Given the description of an element on the screen output the (x, y) to click on. 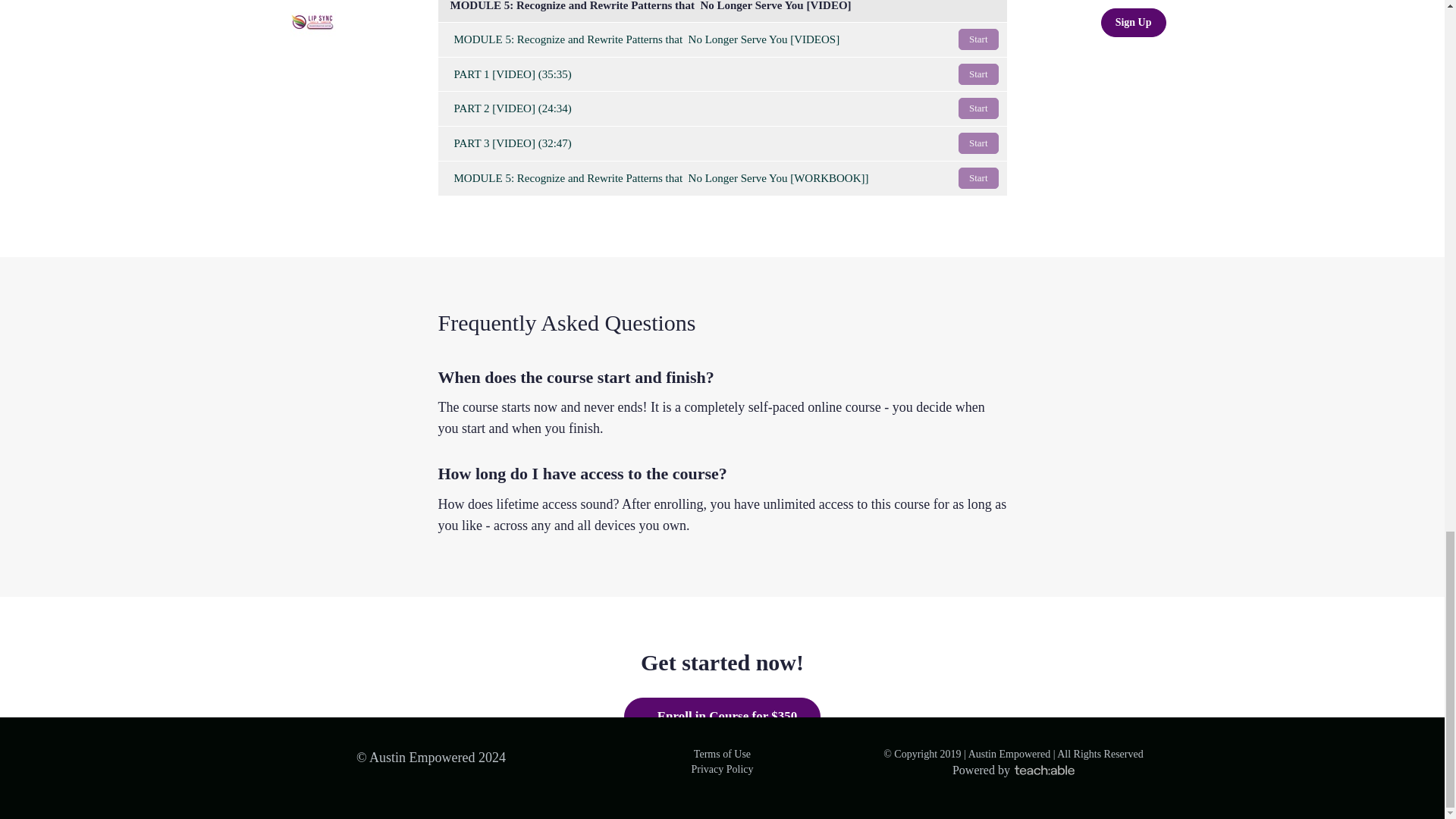
Terms of Use (722, 754)
Privacy Policy (721, 768)
Powered by (1013, 769)
